Given the description of an element on the screen output the (x, y) to click on. 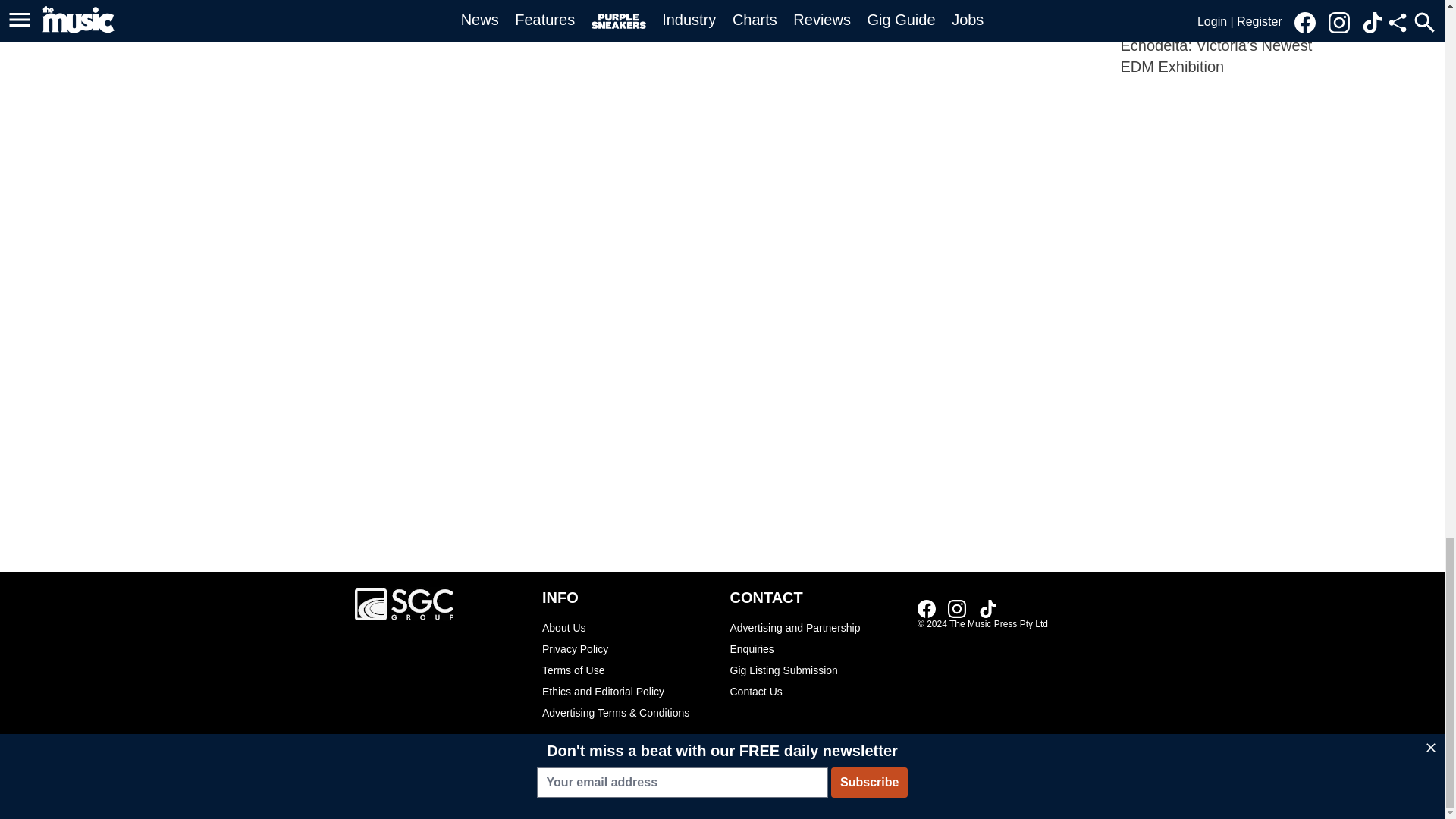
Advertising and Partnership Enquiries (815, 638)
About Us (627, 627)
Ethics and Editorial Policy (627, 690)
Privacy Policy (627, 649)
Link to our Facebook (926, 608)
Gig Listing Submission (815, 670)
Link to our TikTok (987, 608)
Link to our Instagram (956, 608)
Terms of Use (627, 670)
